Given the description of an element on the screen output the (x, y) to click on. 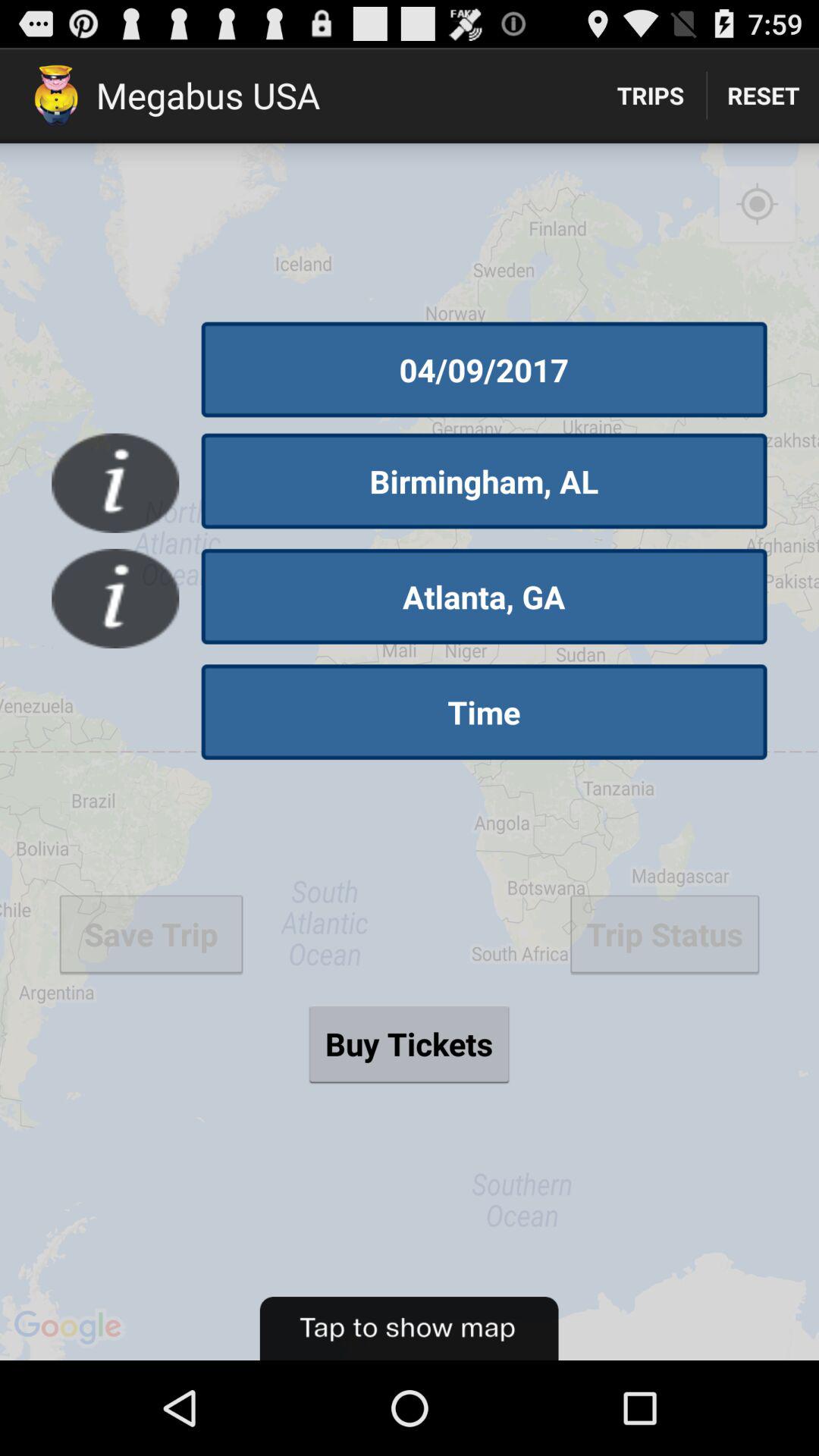
open the trips (650, 95)
